Given the description of an element on the screen output the (x, y) to click on. 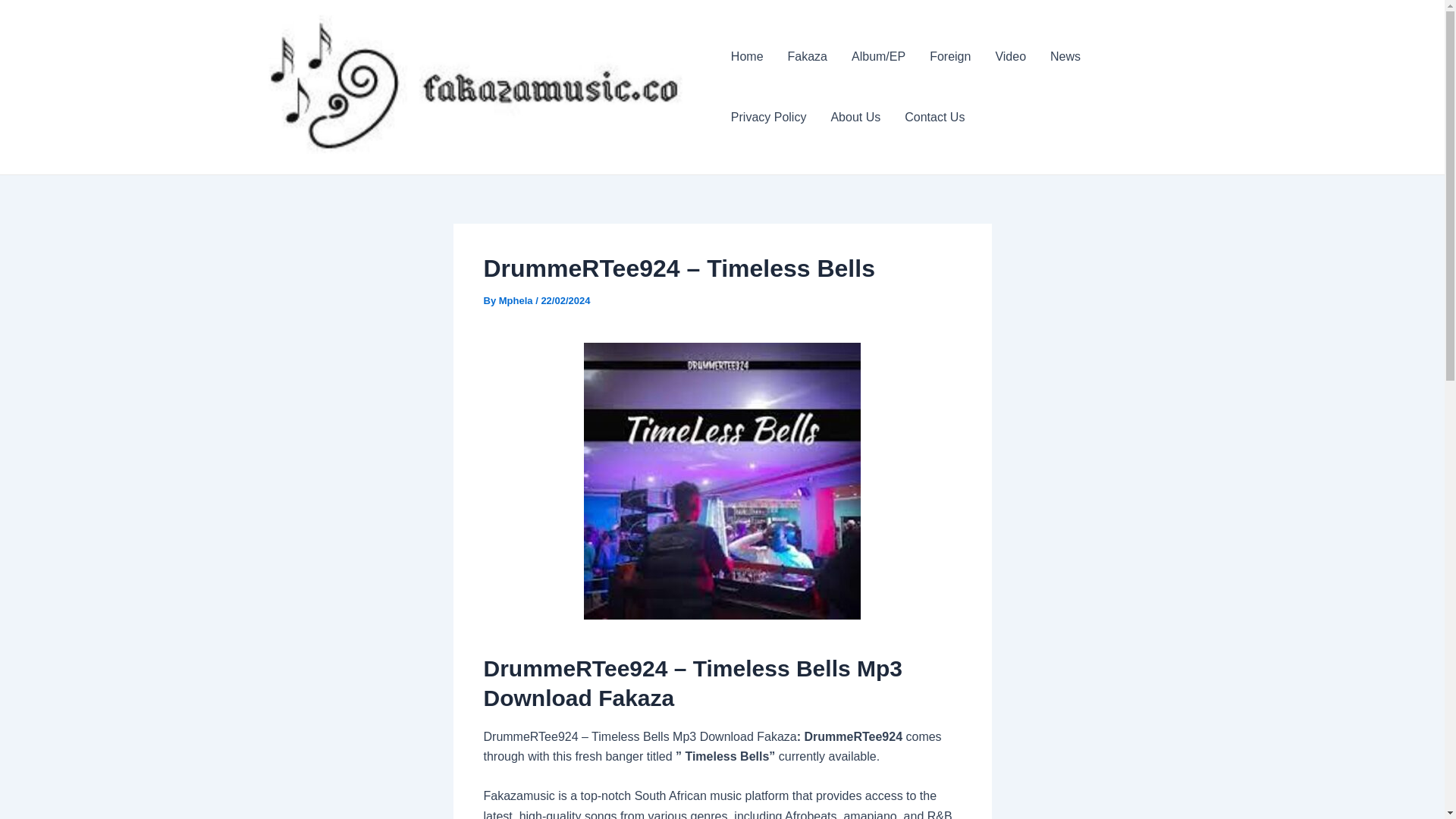
News (1065, 56)
View all posts by Mphela (517, 300)
Fakaza (808, 56)
Mphela (517, 300)
Video (1010, 56)
Privacy Policy (768, 117)
Home (747, 56)
About Us (855, 117)
Contact Us (934, 117)
Foreign (949, 56)
